Given the description of an element on the screen output the (x, y) to click on. 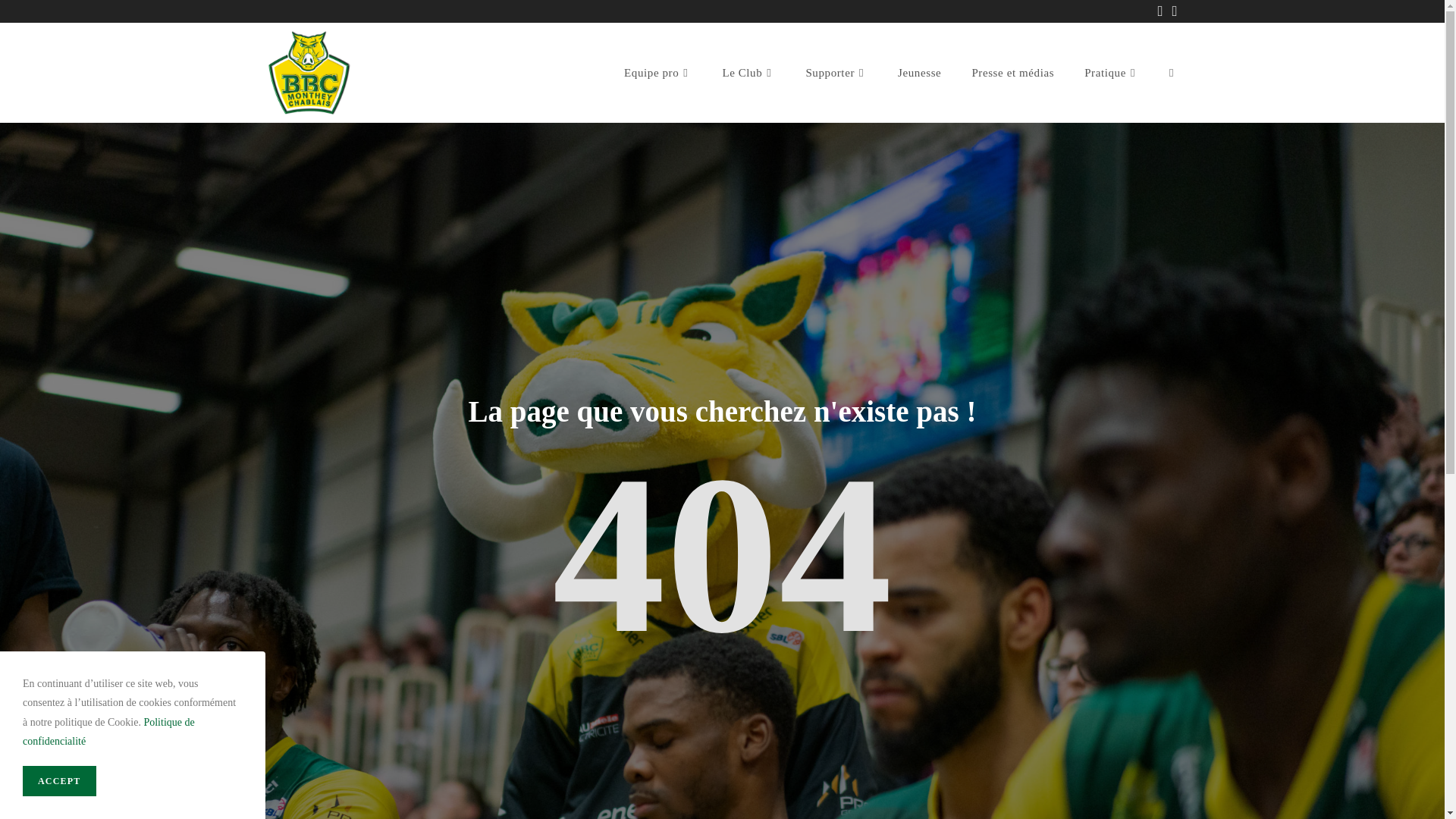
ACCEPT Element type: text (59, 780)
Equipe pro Element type: text (657, 72)
Jeunesse Element type: text (919, 72)
Le Club Element type: text (748, 72)
Pratique Element type: text (1111, 72)
Supporter Element type: text (836, 72)
